Given the description of an element on the screen output the (x, y) to click on. 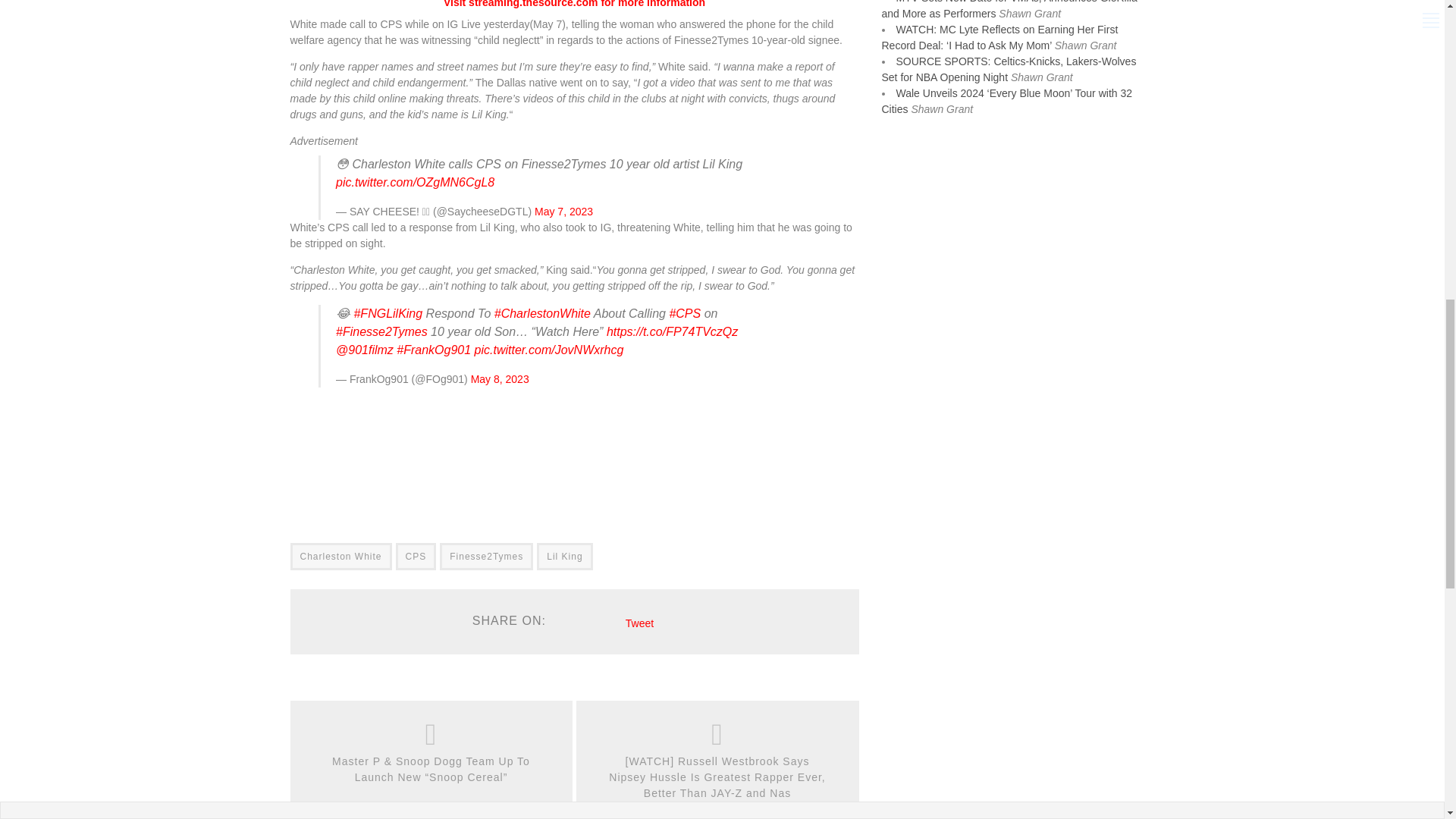
CPS (416, 556)
May 8, 2023 (499, 378)
Visit streaming.thesource.com for more information (574, 4)
Tweet (639, 623)
May 7, 2023 (563, 211)
Lil King (564, 556)
Charleston White (340, 556)
Finesse2Tymes (485, 556)
